Given the description of an element on the screen output the (x, y) to click on. 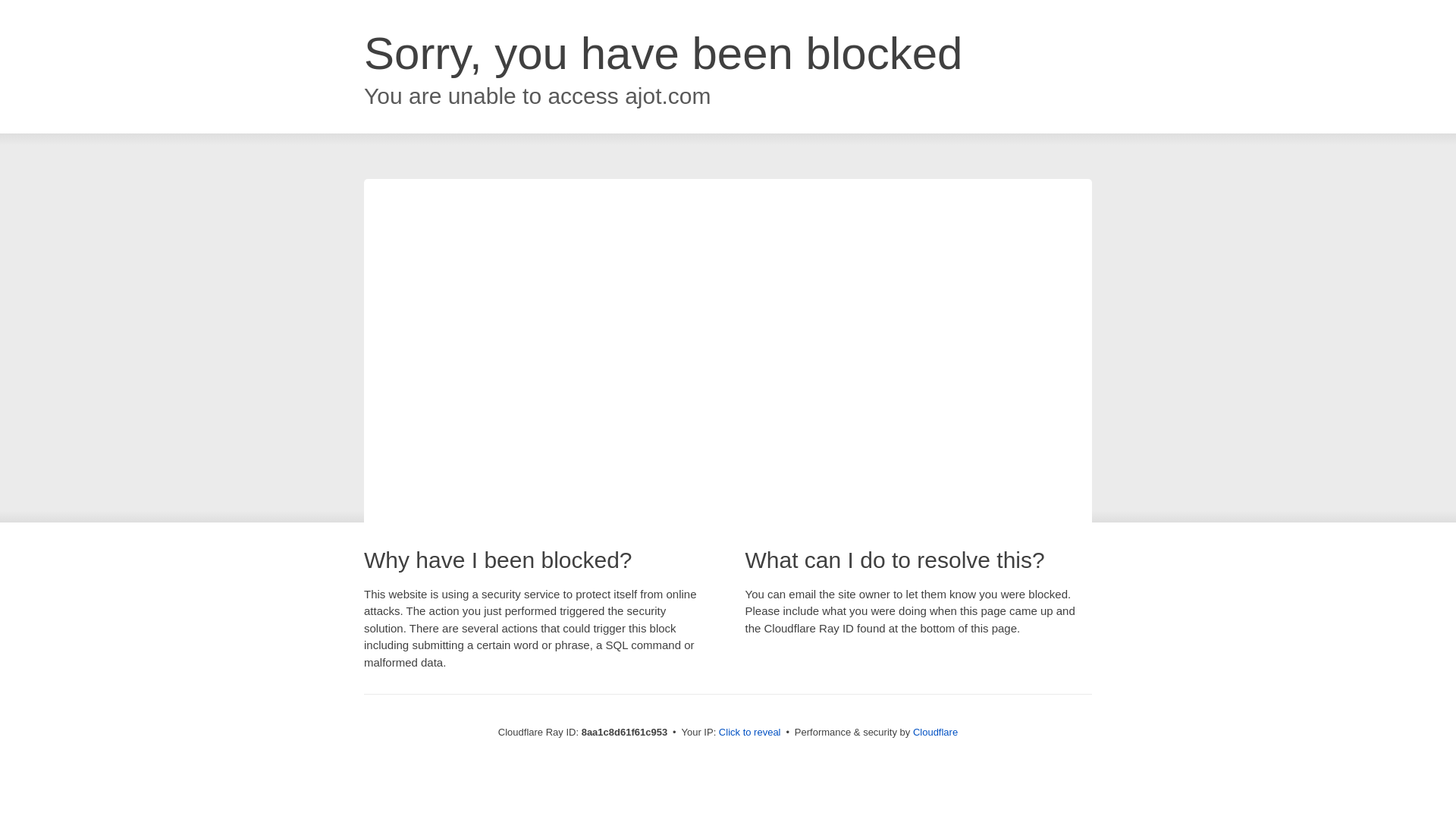
Click to reveal (749, 732)
Cloudflare (935, 731)
